Given the description of an element on the screen output the (x, y) to click on. 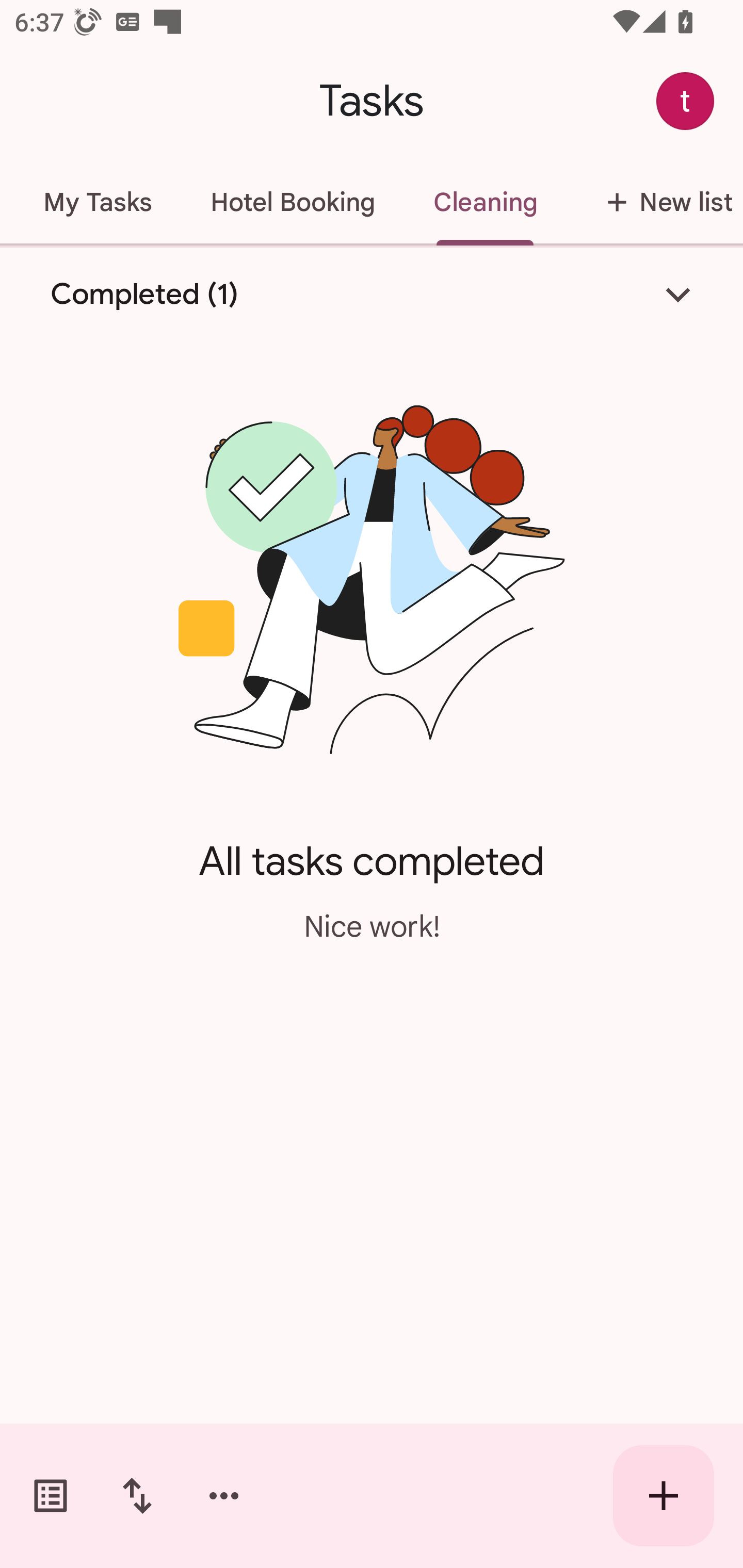
My Tasks (97, 202)
Hotel Booking (292, 202)
New list (654, 202)
Completed (1) (371, 294)
Switch task lists (50, 1495)
Create new task (663, 1495)
Change sort order (136, 1495)
More options (223, 1495)
